Given the description of an element on the screen output the (x, y) to click on. 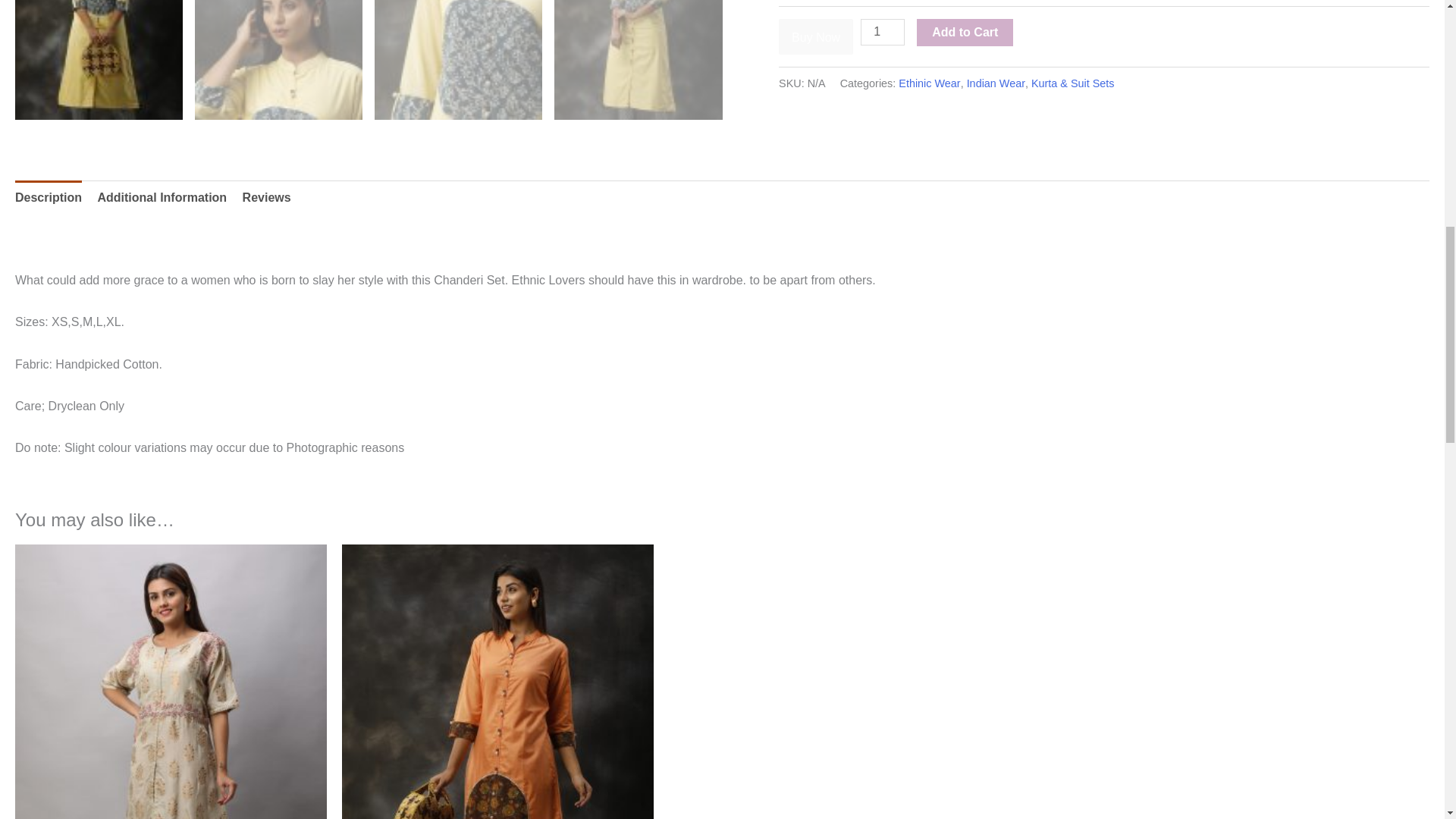
1 (882, 31)
